Given the description of an element on the screen output the (x, y) to click on. 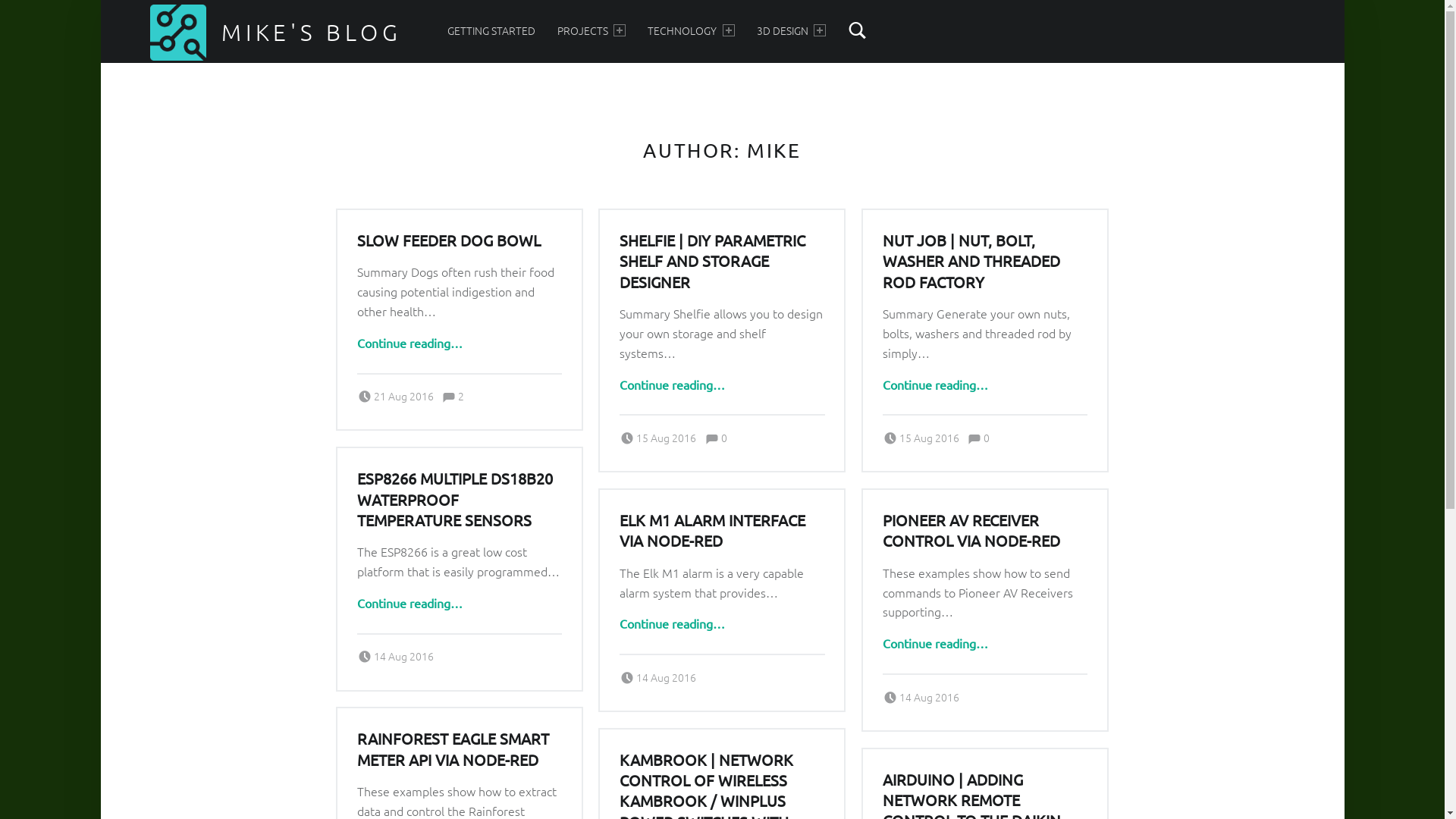
mike Element type: text (441, 648)
3D DESIGN Element type: text (790, 30)
Search Element type: text (857, 30)
mike Element type: text (969, 430)
14 Aug 2016 Element type: text (929, 696)
RAINFOREST EAGLE SMART METER API VIA NODE-RED Element type: text (453, 748)
15 Aug 2016 Element type: text (929, 437)
Comments:
0 Element type: text (977, 437)
mike Element type: text (707, 430)
SLOW FEEDER DOG BOWL Element type: text (448, 239)
MIKE'S BLOG Element type: text (311, 32)
Comments:
0 Element type: text (715, 437)
ESP8266 MULTIPLE DS18B20 WATERPROOF TEMPERATURE SENSORS Element type: text (454, 498)
mike Element type: text (443, 388)
PIONEER AV RECEIVER CONTROL VIA NODE-RED Element type: text (971, 529)
14 Aug 2016 Element type: text (666, 676)
SHELFIE | DIY PARAMETRIC SHELF AND STORAGE DESIGNER Element type: text (712, 260)
21 Aug 2016 Element type: text (403, 395)
TECHNOLOGY Element type: text (690, 30)
mike Element type: text (967, 688)
Comments:
2 Element type: text (452, 395)
GETTING STARTED Element type: text (491, 30)
mike Element type: text (704, 669)
14 Aug 2016 Element type: text (403, 655)
ELK M1 ALARM INTERFACE VIA NODE-RED Element type: text (712, 529)
NUT JOB | NUT, BOLT, WASHER AND THREADED ROD FACTORY Element type: text (971, 260)
15 Aug 2016 Element type: text (666, 437)
PROJECTS Element type: text (591, 30)
